Given the description of an element on the screen output the (x, y) to click on. 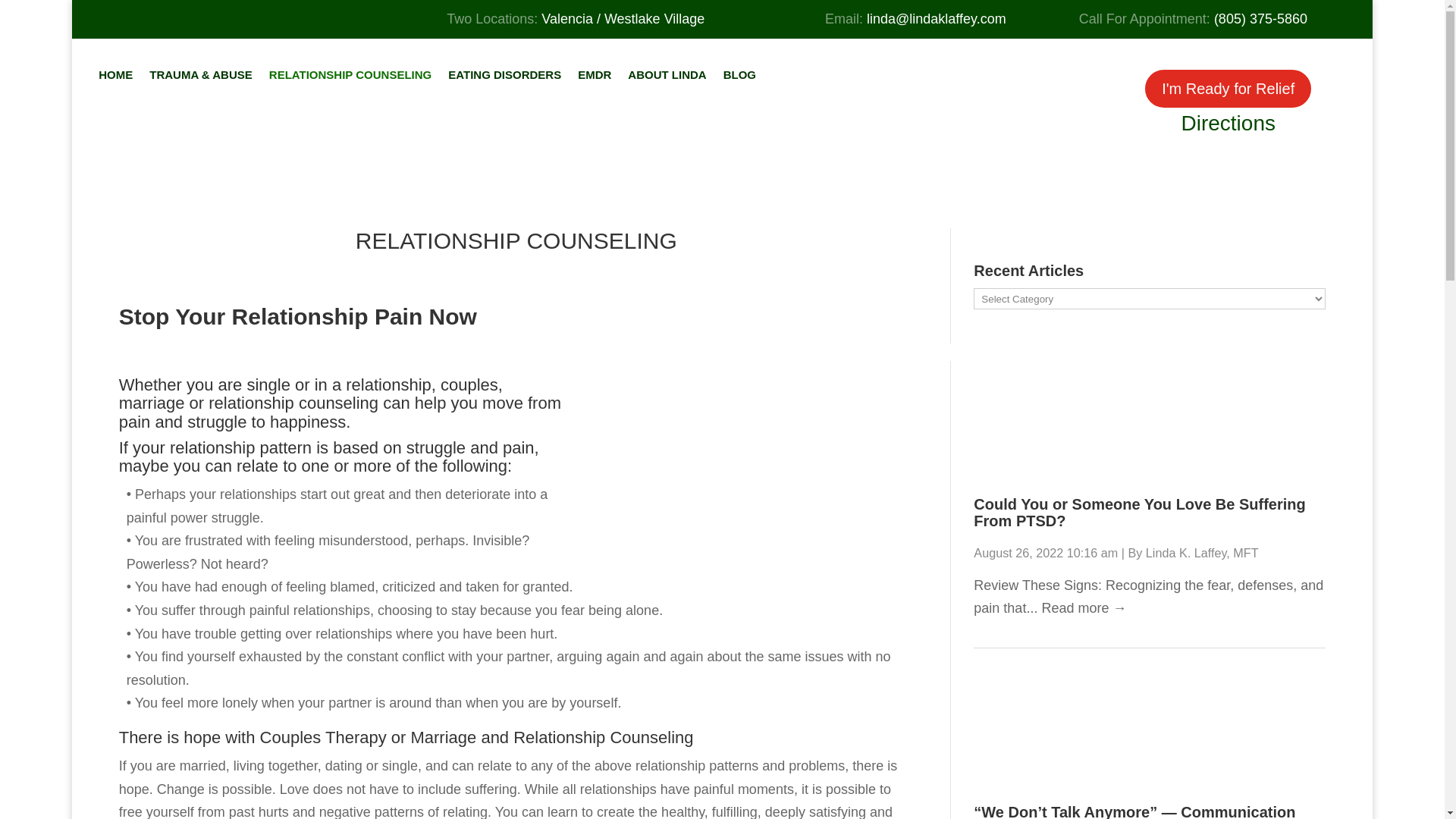
RELATIONSHIP COUNSELING (349, 74)
I'm Ready for Relief (1227, 88)
Linda K. Laffey, MFT (1202, 552)
EATING DISORDERS (504, 74)
ABOUT LINDA (666, 74)
Could You or Someone You Love Be Suffering From PTSD? (1139, 512)
